Given the description of an element on the screen output the (x, y) to click on. 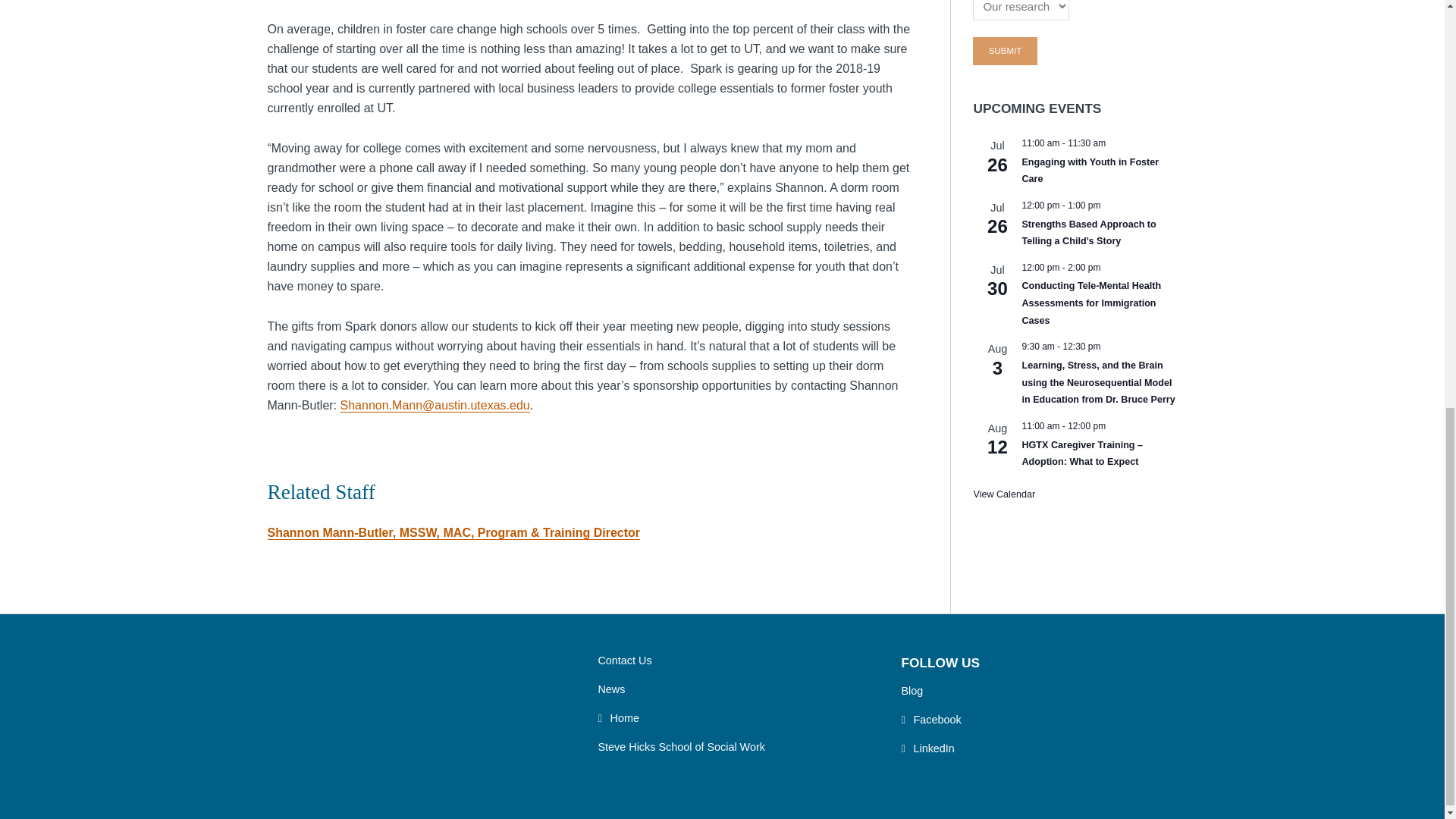
Engaging with Youth in Foster Care (1090, 171)
View more events. (1003, 493)
Submit (1004, 50)
